Given the description of an element on the screen output the (x, y) to click on. 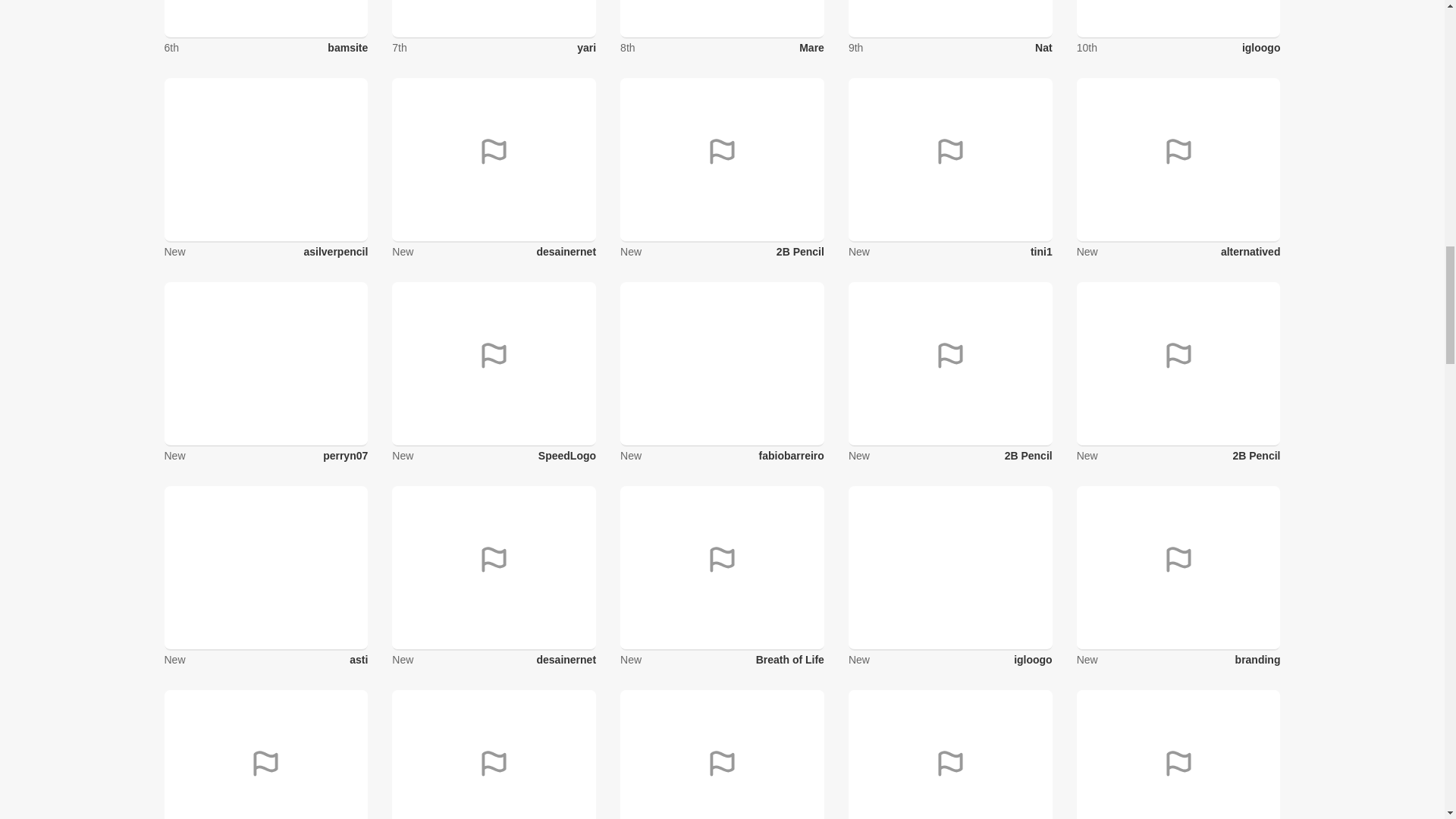
desainernet (565, 659)
Breath of Life (789, 659)
fabiobarreiro (791, 455)
tini1 (1041, 251)
Mare (811, 47)
bamsite (347, 47)
asilverpencil (335, 251)
desainernet (565, 251)
yari (585, 47)
perryn07 (345, 455)
